Given the description of an element on the screen output the (x, y) to click on. 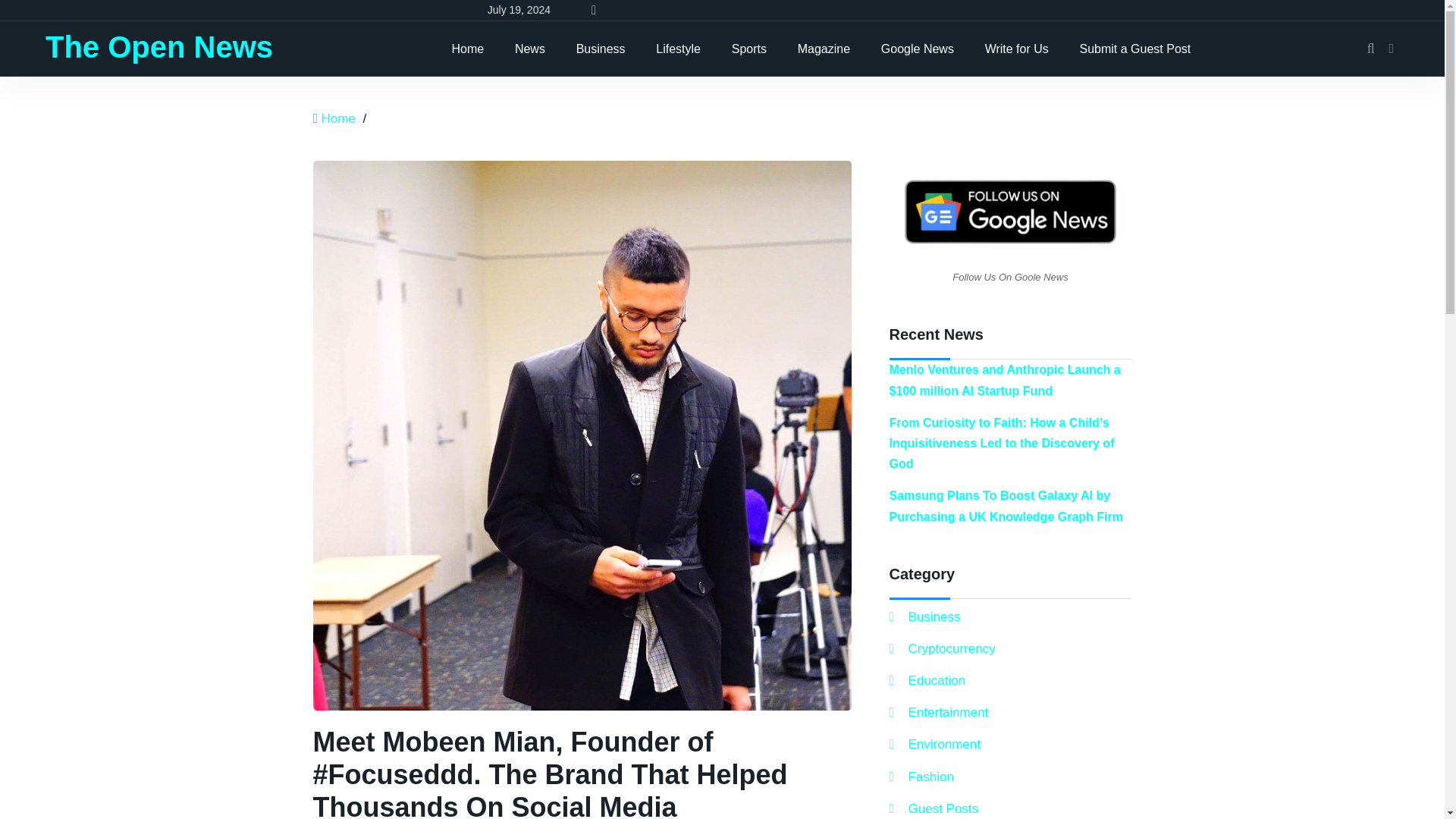
Business (600, 49)
Google News (917, 49)
The Open News (159, 46)
Magazine (823, 49)
Business (923, 616)
Entertainment (938, 711)
Home (467, 49)
Guest Posts (933, 808)
Submit a Guest Post (1135, 49)
Sports (748, 49)
Education (926, 680)
Lifestyle (678, 49)
Home (337, 118)
Fashion (920, 776)
